Given the description of an element on the screen output the (x, y) to click on. 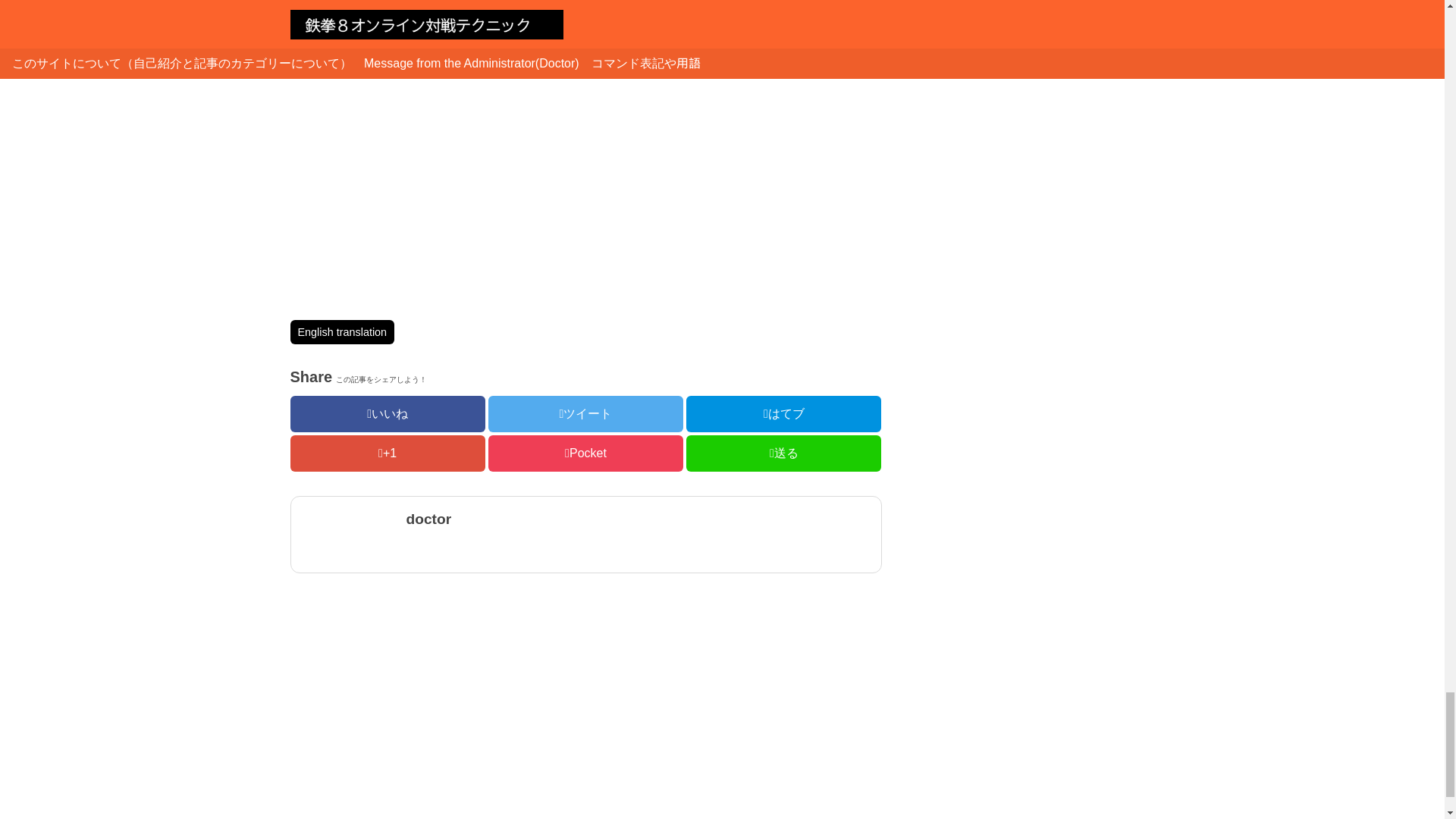
English translation (341, 331)
English translation (341, 331)
Pocket (584, 452)
